Given the description of an element on the screen output the (x, y) to click on. 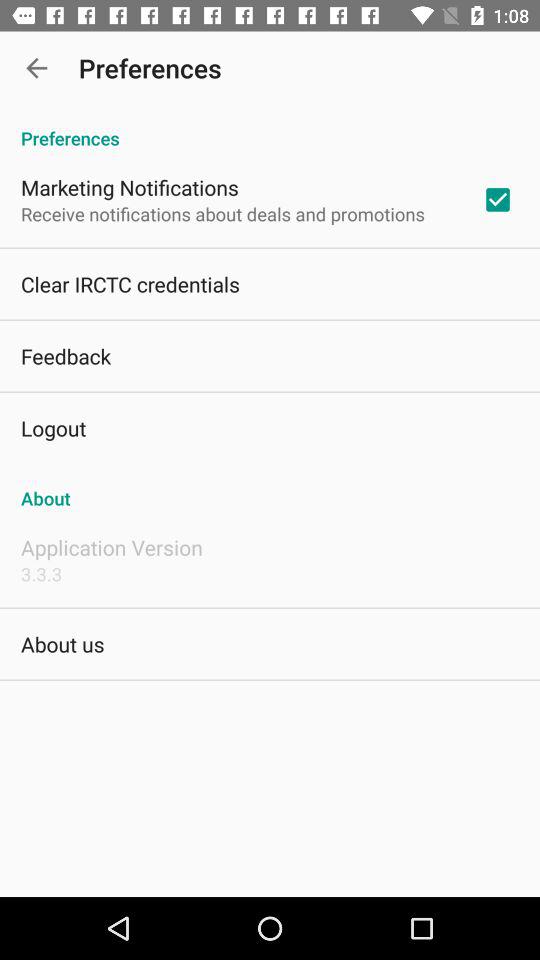
click application version app (111, 547)
